Given the description of an element on the screen output the (x, y) to click on. 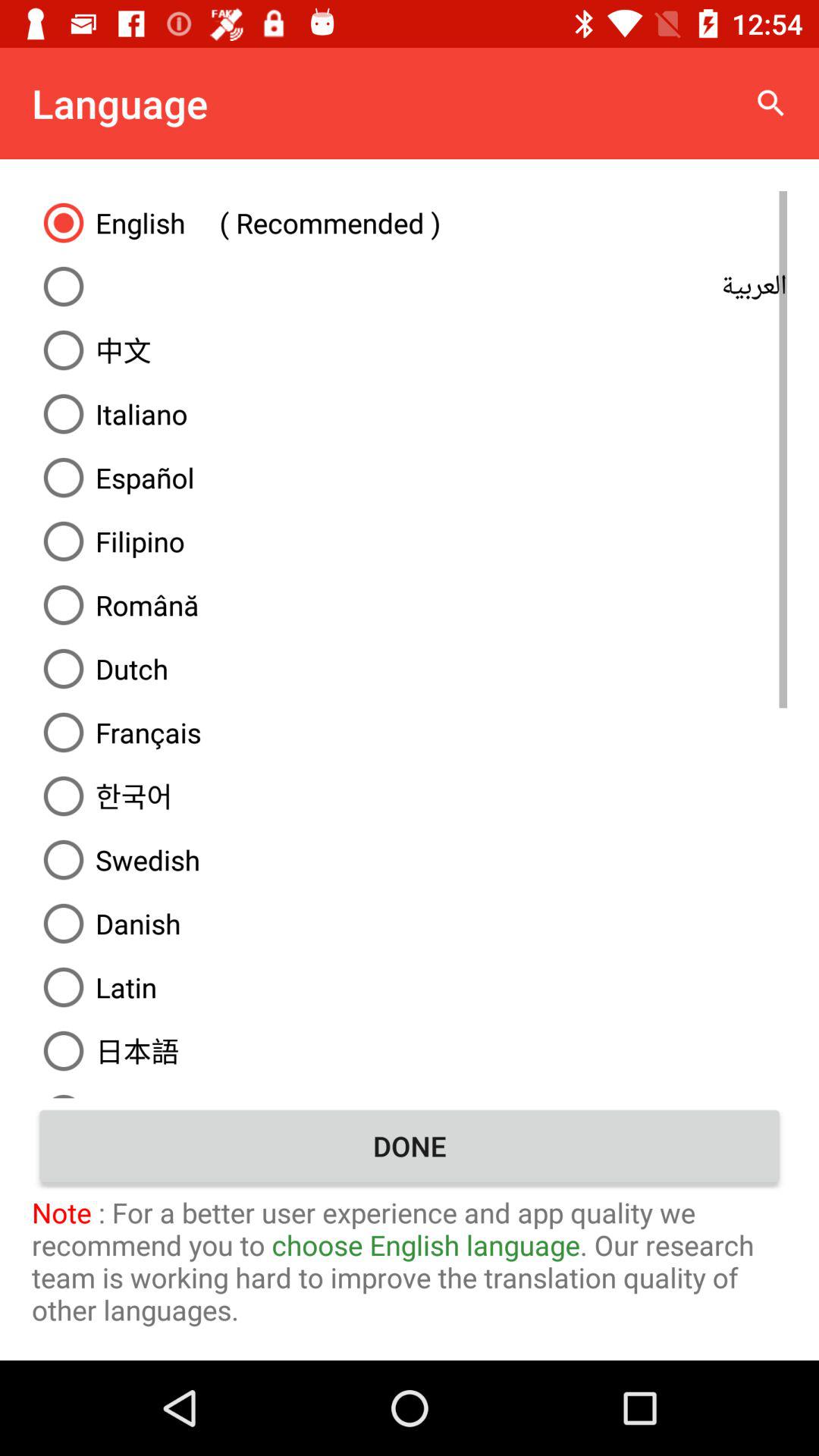
jump until the italiano item (409, 413)
